Given the description of an element on the screen output the (x, y) to click on. 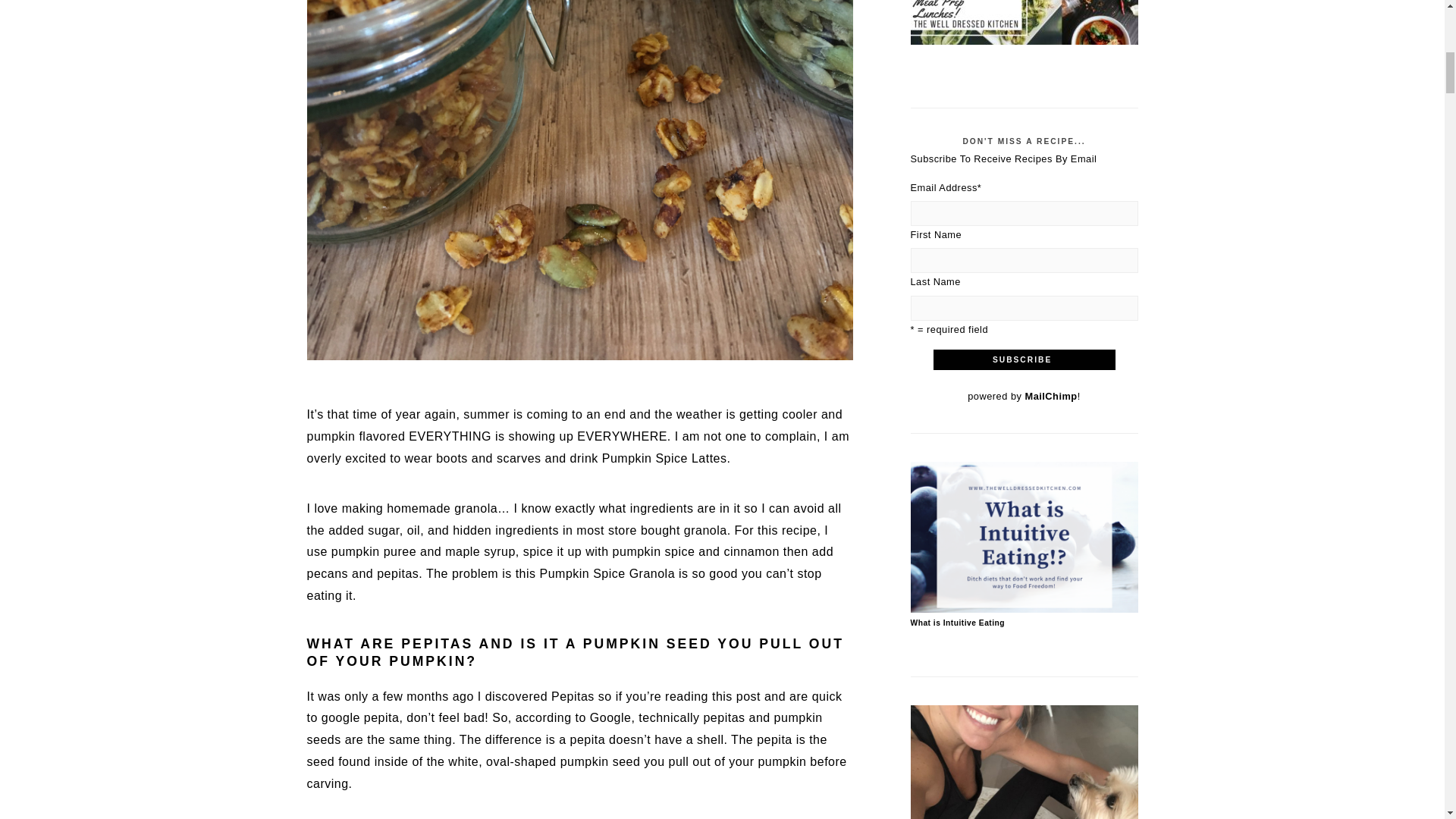
What is Intuitive Eating (1023, 609)
SUBSCRIBE  (1024, 359)
